Given the description of an element on the screen output the (x, y) to click on. 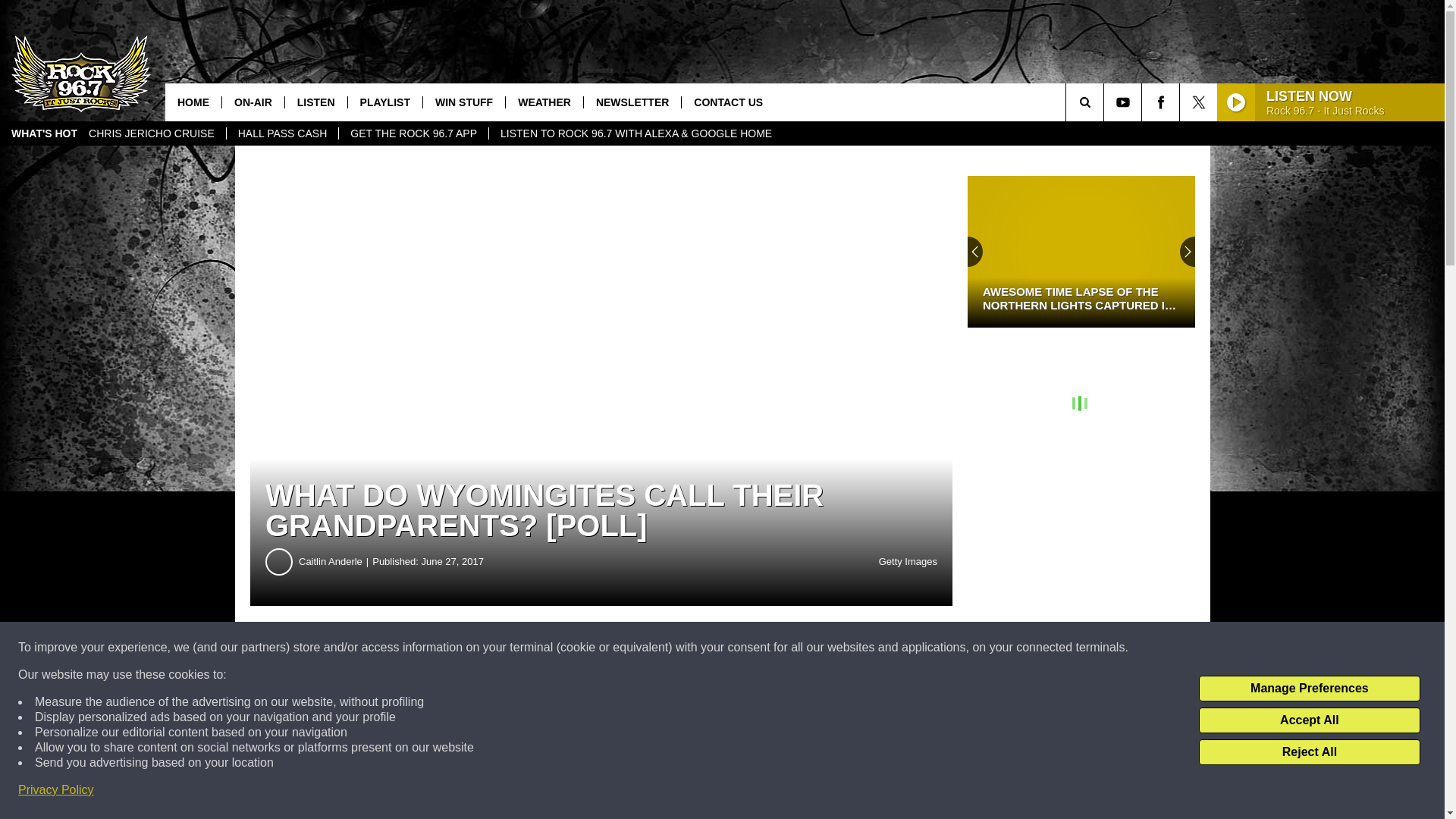
WIN STUFF (463, 102)
Privacy Policy (55, 789)
PLAYLIST (384, 102)
GET THE ROCK 96.7 APP (412, 133)
LISTEN (315, 102)
CHRIS JERICHO CRUISE (151, 133)
HOME (193, 102)
Manage Preferences (1309, 688)
Share on Twitter (741, 647)
CONTACT US (727, 102)
